Given the description of an element on the screen output the (x, y) to click on. 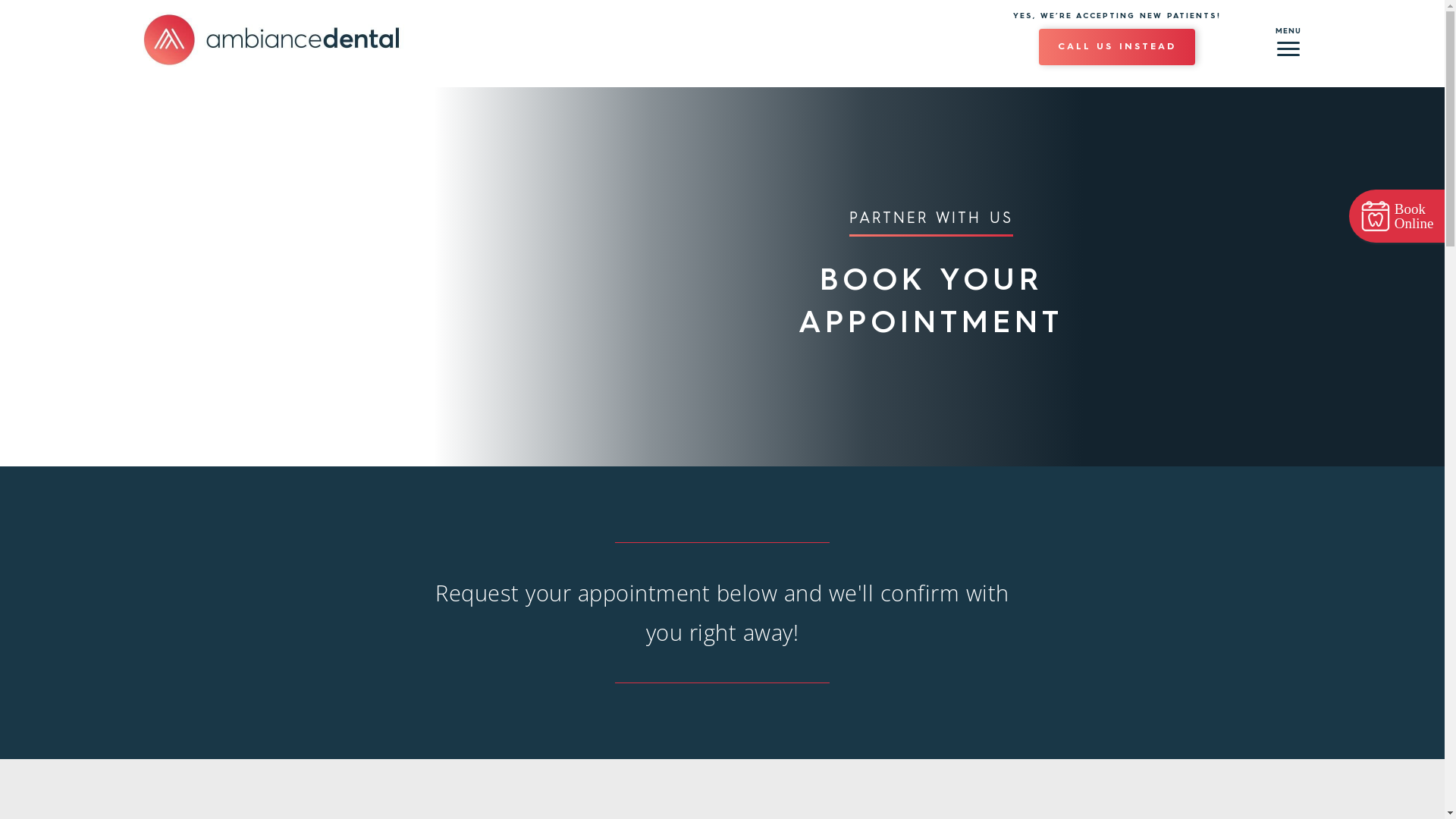
Book
Online Element type: text (1396, 215)
Ambiance Dental Clinic - Calgary Dentists Element type: hover (270, 39)
PARTNER WITH US Element type: text (931, 223)
CALL US INSTEAD Element type: text (1116, 46)
